Given the description of an element on the screen output the (x, y) to click on. 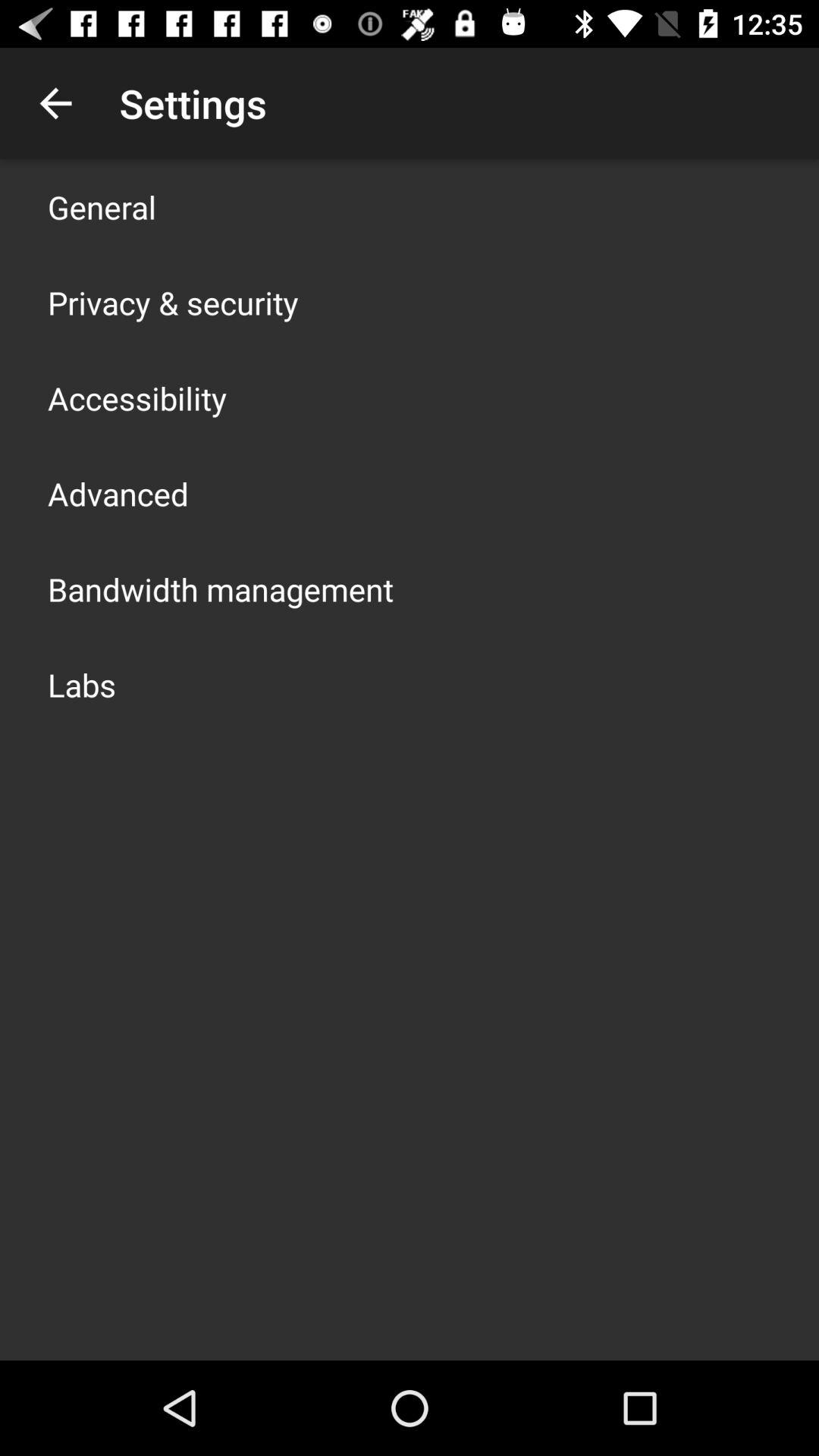
choose the icon above labs item (220, 588)
